Given the description of an element on the screen output the (x, y) to click on. 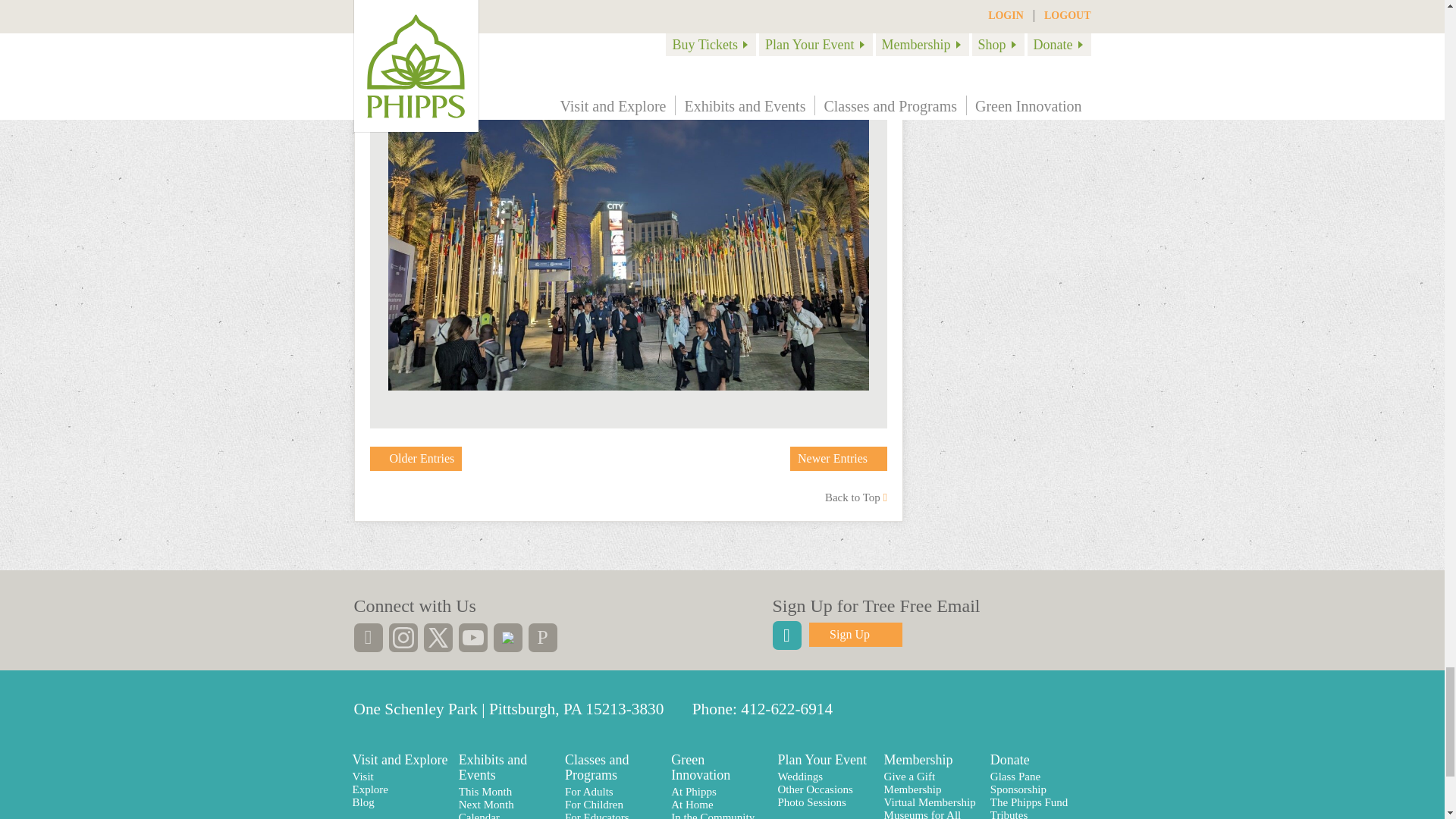
instagram (402, 637)
pinterest (541, 637)
tiktok (507, 637)
twitter, x (437, 637)
facebook (367, 637)
youtube (472, 637)
